Given the description of an element on the screen output the (x, y) to click on. 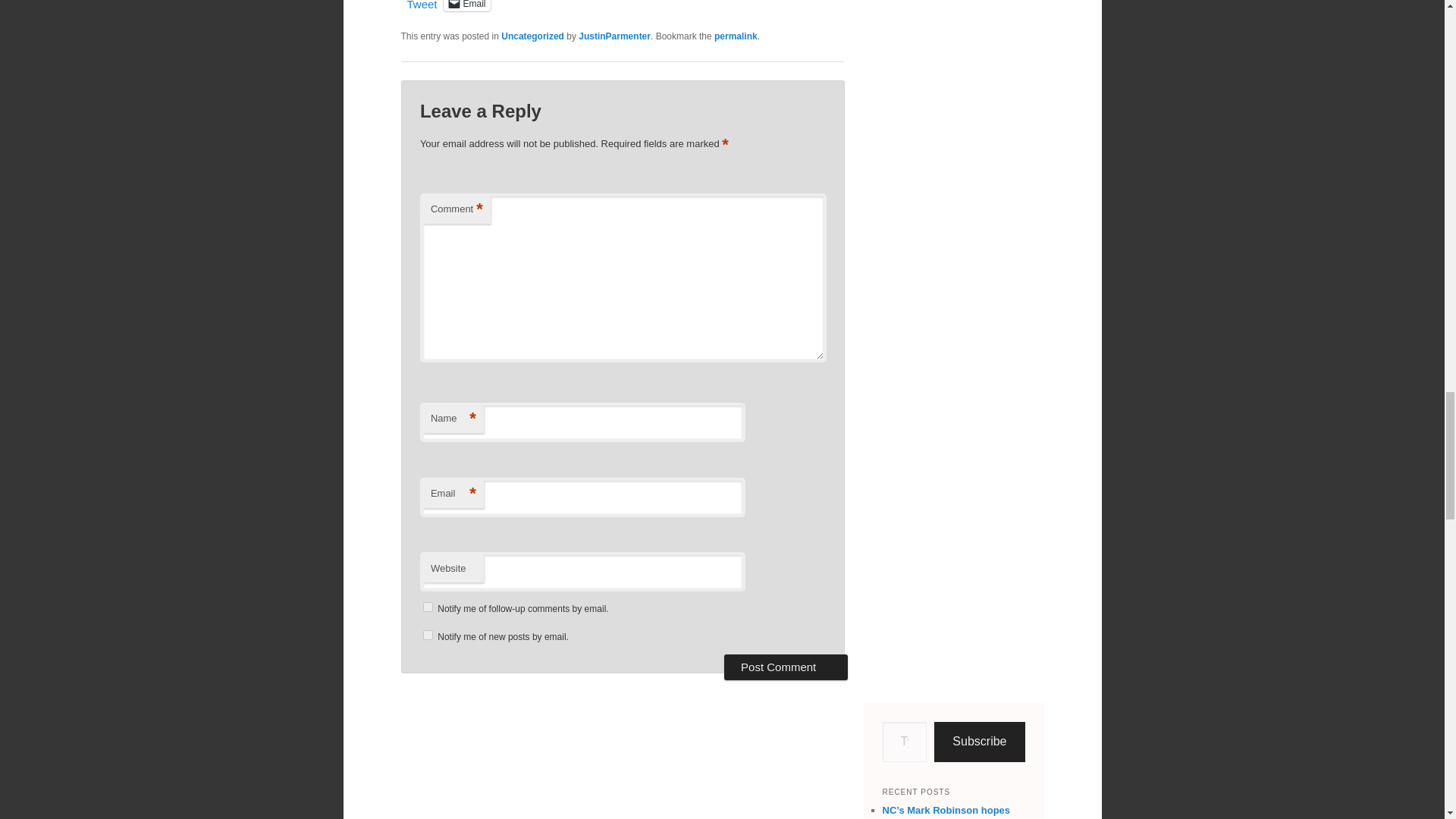
Post Comment (785, 667)
Post Comment (785, 667)
Click to email a link to a friend (467, 5)
Permalink to Donors Choose pork in NC budget bill flops (735, 36)
Please fill in this field. (904, 741)
permalink (735, 36)
Uncategorized (532, 36)
subscribe (427, 634)
subscribe (427, 606)
Tweet (421, 4)
